Given the description of an element on the screen output the (x, y) to click on. 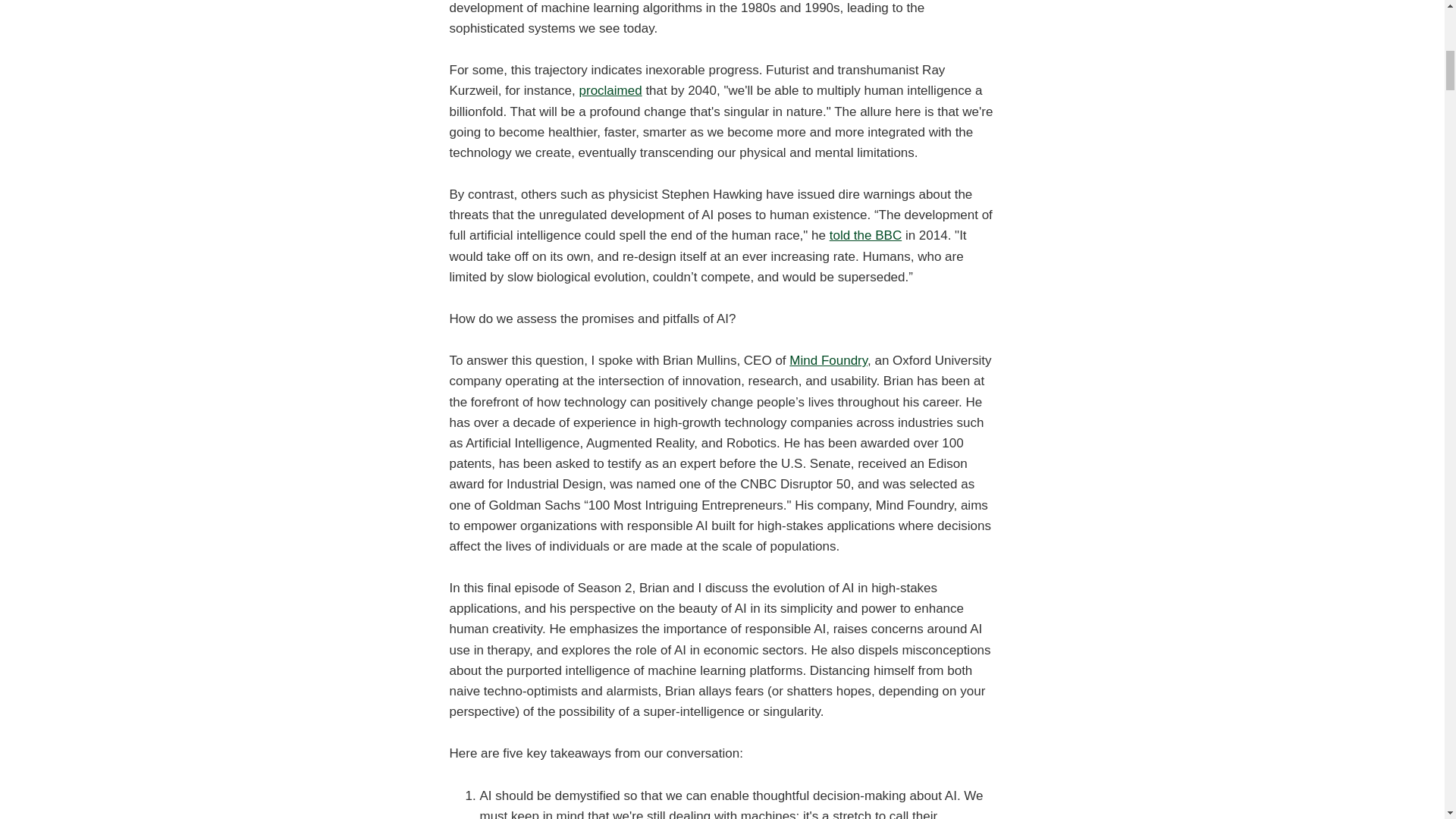
proclaimed (610, 90)
Mind Foundry (828, 359)
told the BBC (865, 235)
